Given the description of an element on the screen output the (x, y) to click on. 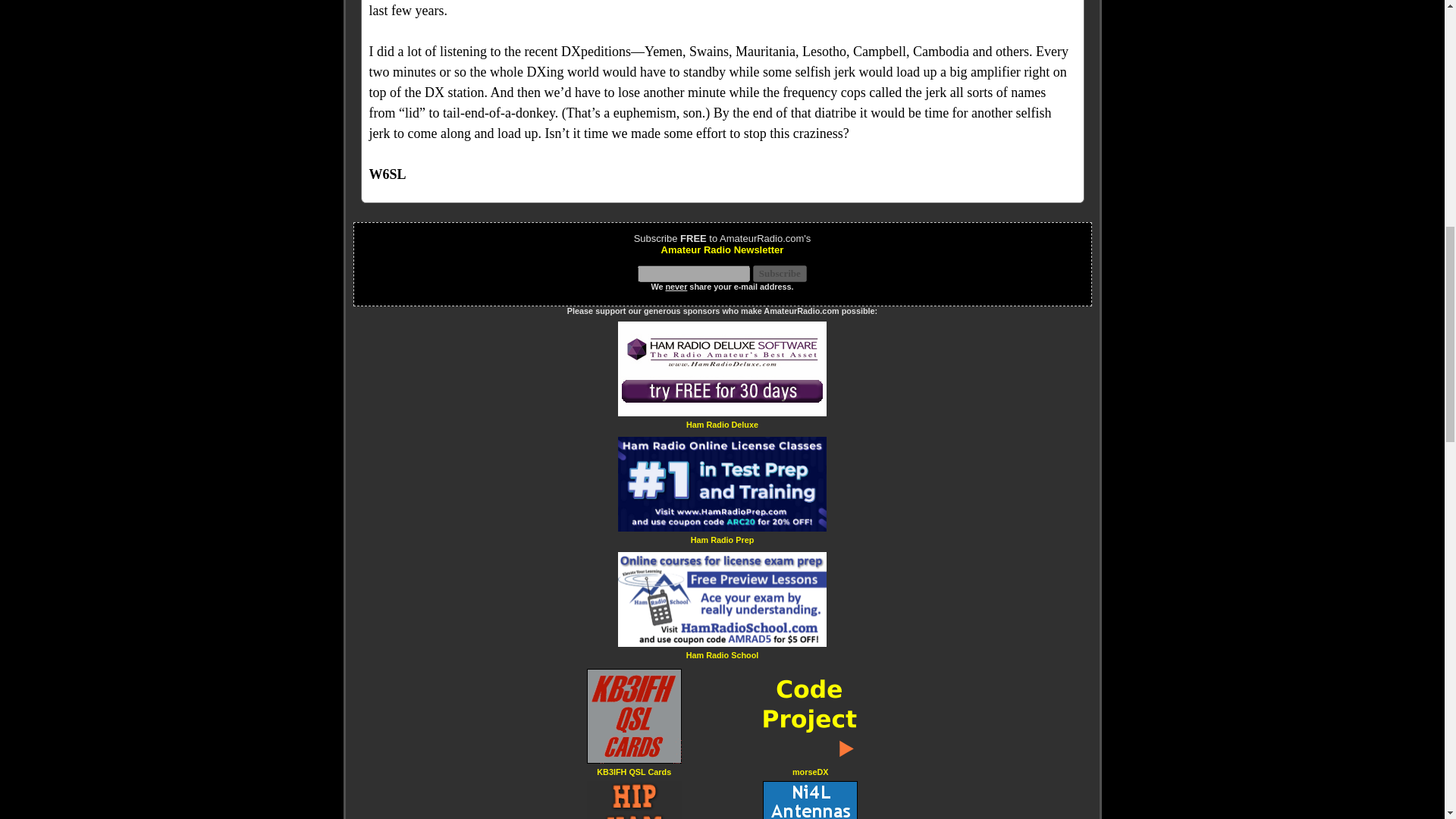
Ham Radio School (721, 654)
morseDX (810, 771)
Ham Radio Prep (722, 539)
Subscribe (779, 273)
Ham Radio Deluxe (721, 423)
KB3IFH QSL Cards (633, 771)
Subscribe (779, 273)
